Given the description of an element on the screen output the (x, y) to click on. 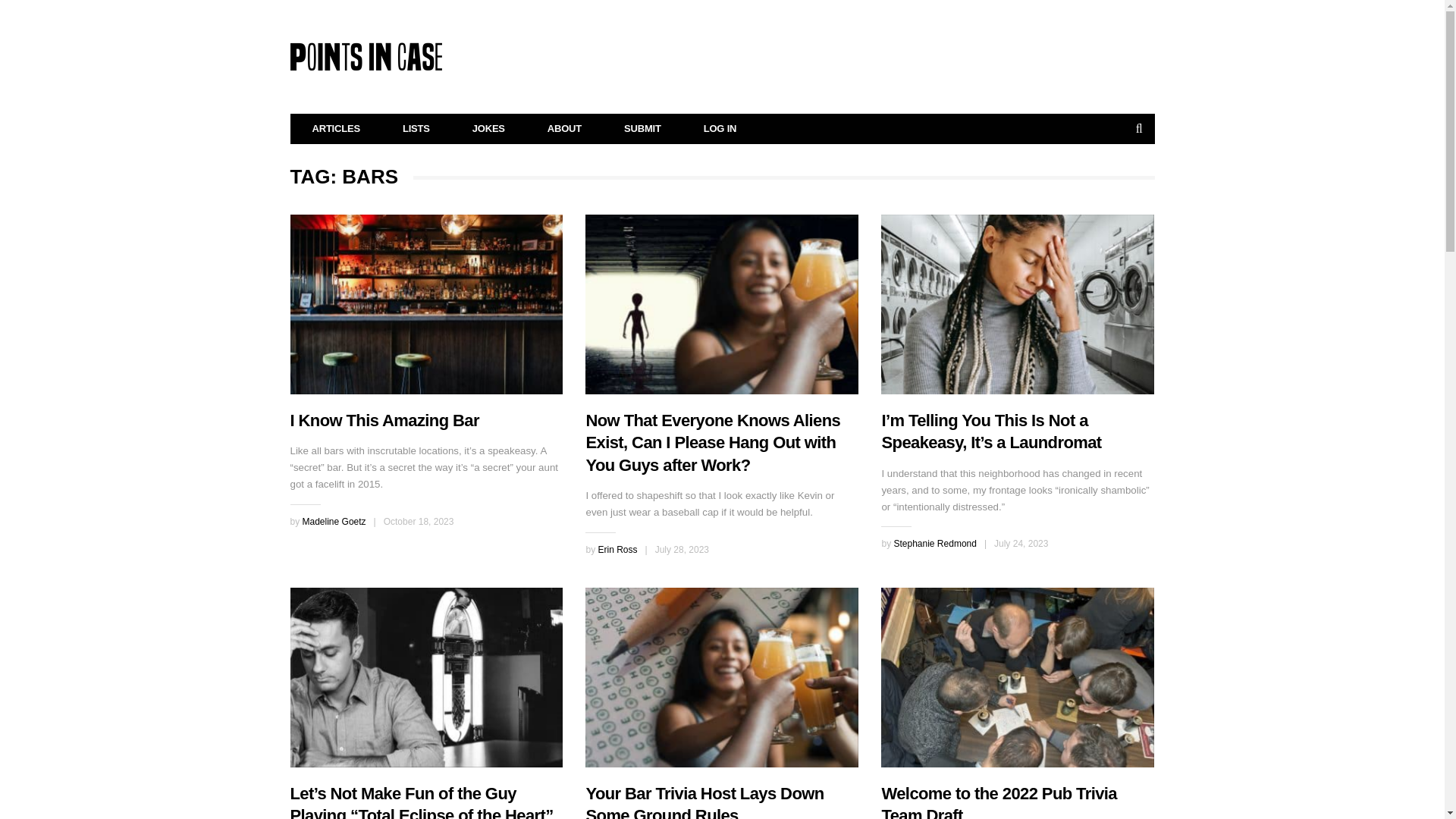
Welcome to the 2022 Pub Trivia Team Draft (998, 801)
Welcome to the 2022 Pub Trivia Team Draft (1017, 677)
Your Bar Trivia Host Lays Down Some Ground Rules (722, 677)
Stephanie Redmond (934, 543)
ARTICLES (336, 128)
I Know This Amazing Bar (384, 420)
LISTS (416, 128)
Madeline Goetz (334, 521)
LOG IN (720, 128)
SUBMIT (642, 128)
JOKES (488, 128)
Your Bar Trivia Host Lays Down Some Ground Rules (704, 801)
Erin Ross (616, 549)
